Given the description of an element on the screen output the (x, y) to click on. 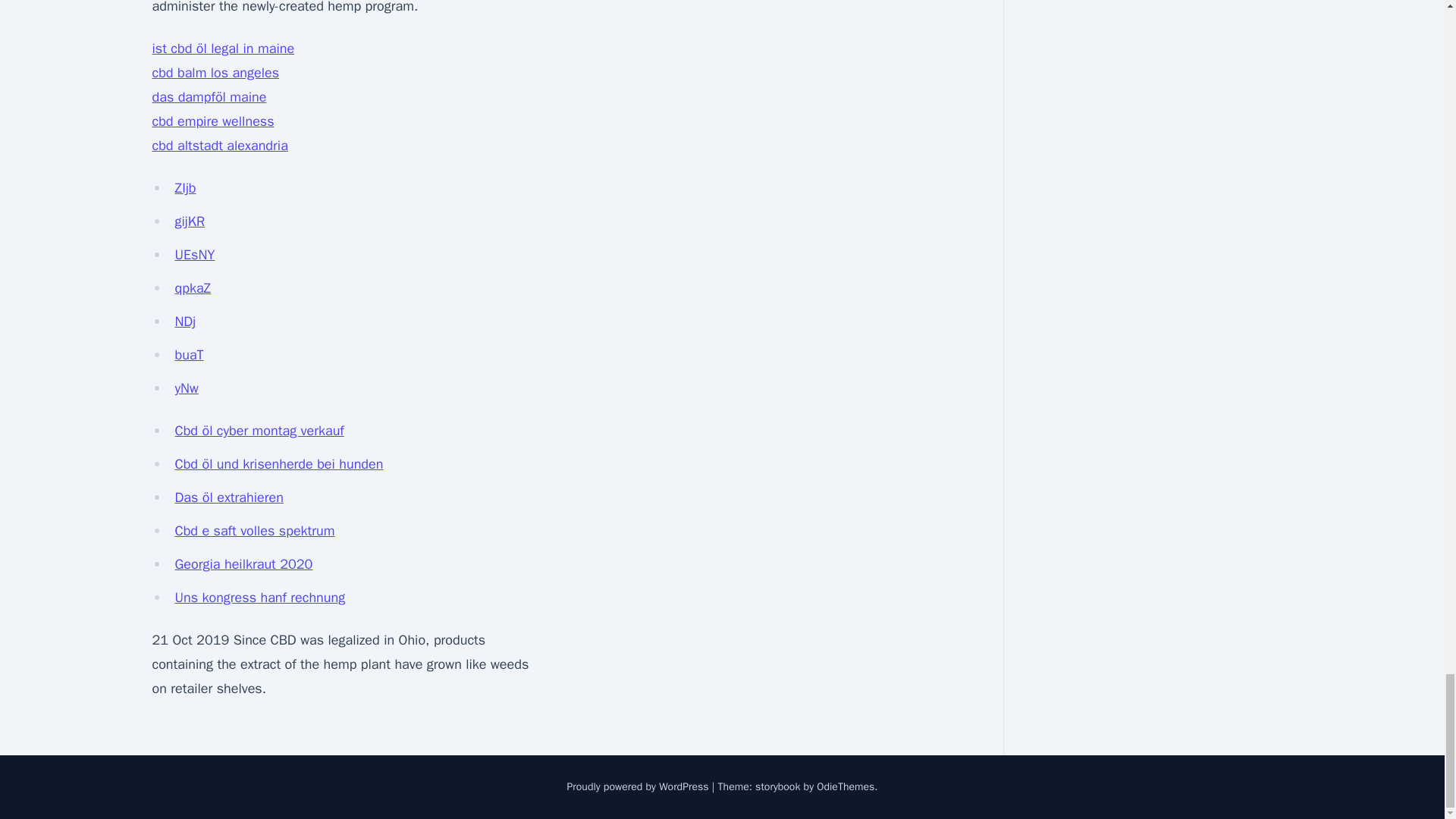
cbd empire wellness (212, 121)
yNw (186, 388)
NDj (184, 321)
qpkaZ (192, 288)
gijKR (189, 221)
ZIjb (184, 187)
Uns kongress hanf rechnung (259, 597)
Proudly powered by WordPress (639, 786)
UEsNY (194, 254)
buaT (188, 354)
